Given the description of an element on the screen output the (x, y) to click on. 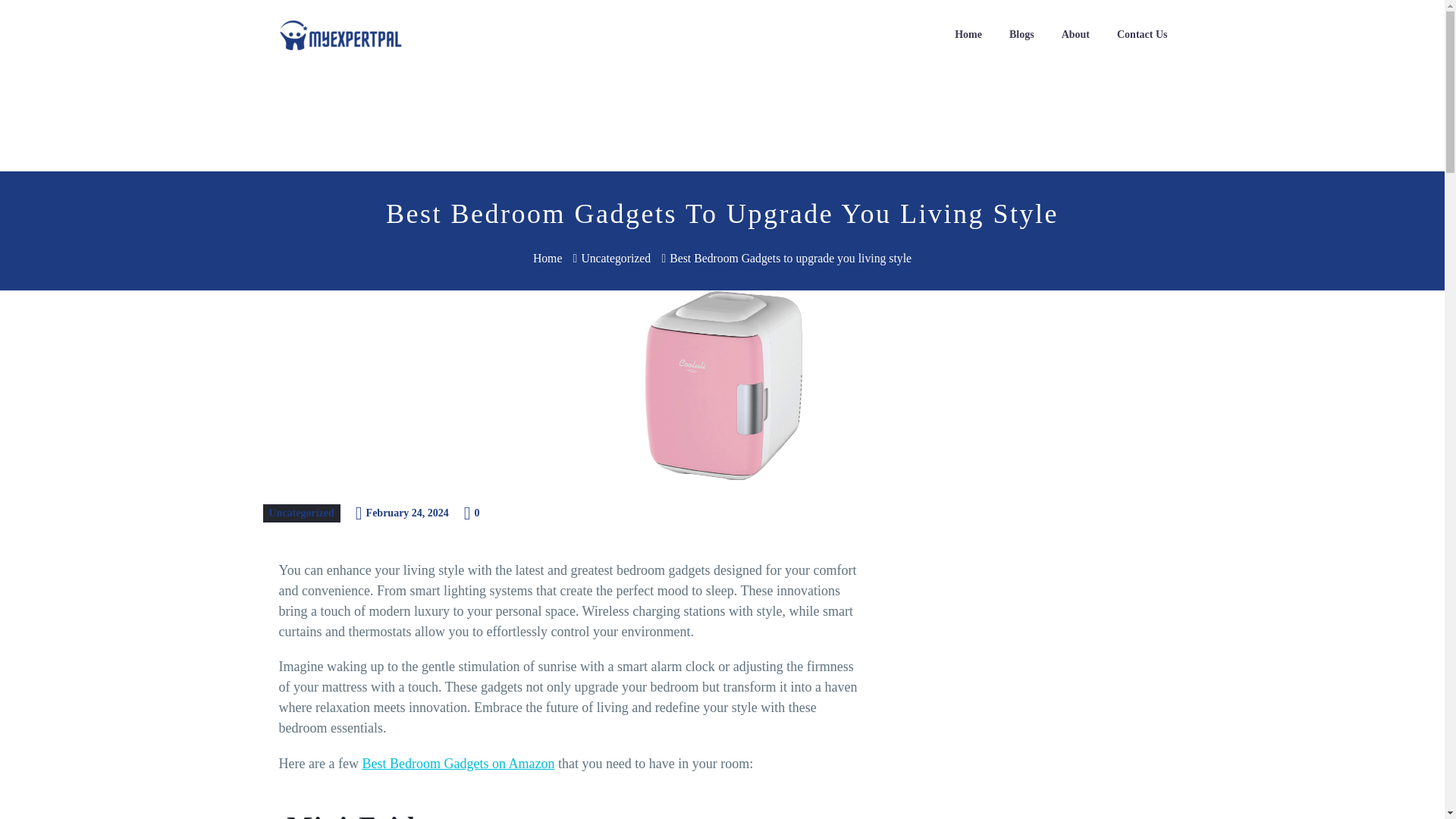
Blogs (1021, 34)
February 24, 2024 (407, 513)
View all posts in Uncategorized (300, 513)
Best Bedroom Gadgets on Amazon (457, 763)
Home (967, 34)
Contact Us (1142, 34)
About (1074, 34)
Uncategorized (615, 257)
Home (547, 257)
Uncategorized (300, 513)
